Given the description of an element on the screen output the (x, y) to click on. 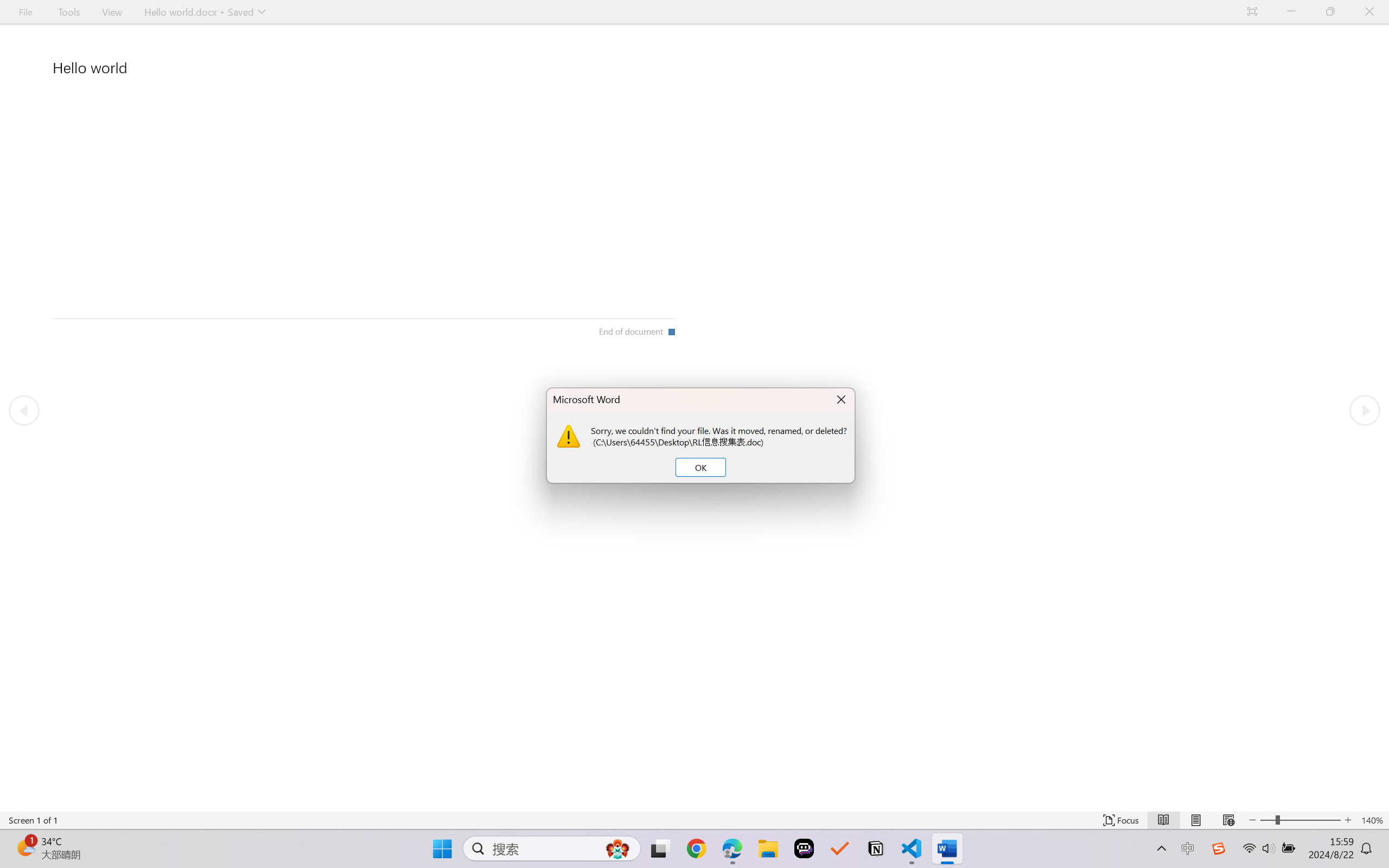
Poe (804, 848)
Zoom Out (1267, 819)
Class: Static (568, 436)
File Tab (24, 11)
Tools (69, 11)
